Given the description of an element on the screen output the (x, y) to click on. 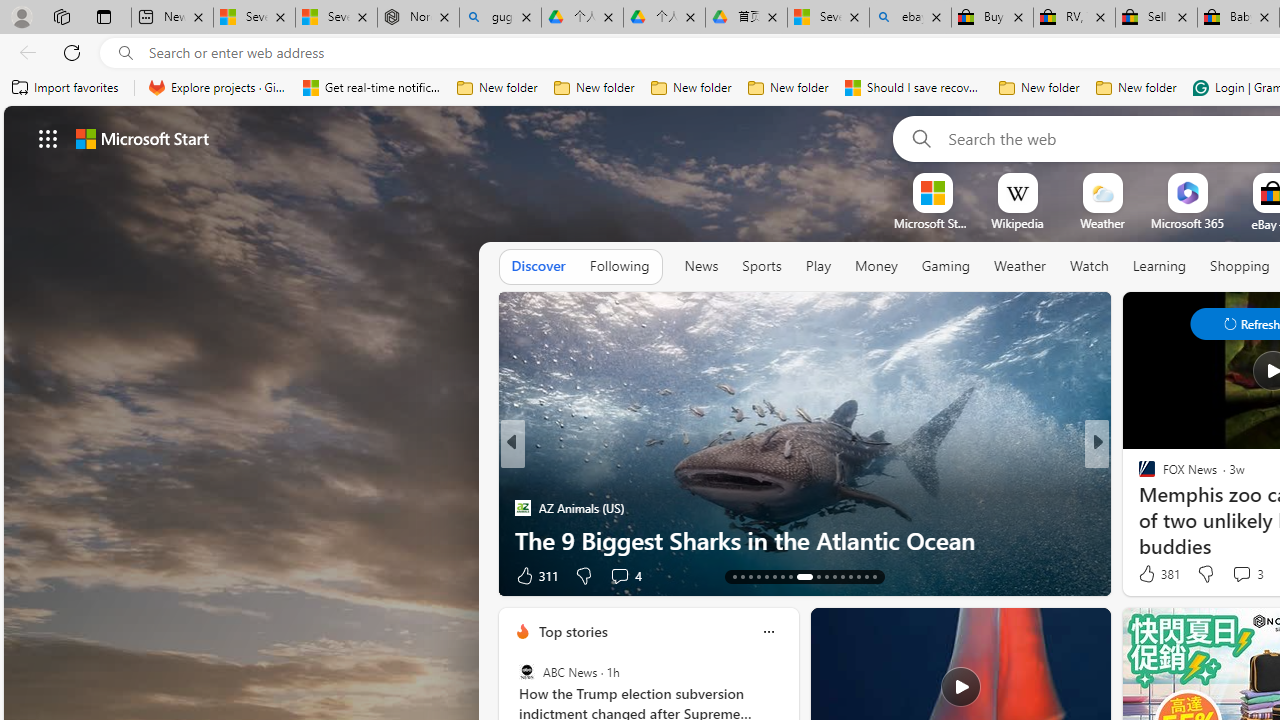
Forge of Empires (1175, 507)
honeymallow (1138, 507)
AutomationID: tab-16 (757, 576)
Nordace - Summer Adventures 2024 (418, 17)
View comments 3 Comment (1241, 573)
View comments 1 Comment (613, 575)
AutomationID: tab-22 (812, 576)
AutomationID: tab-28 (865, 576)
View comments 2 Comment (1234, 574)
Search icon (125, 53)
Watch (1089, 265)
Start the conversation (1234, 575)
Personal Profile (21, 16)
